Given the description of an element on the screen output the (x, y) to click on. 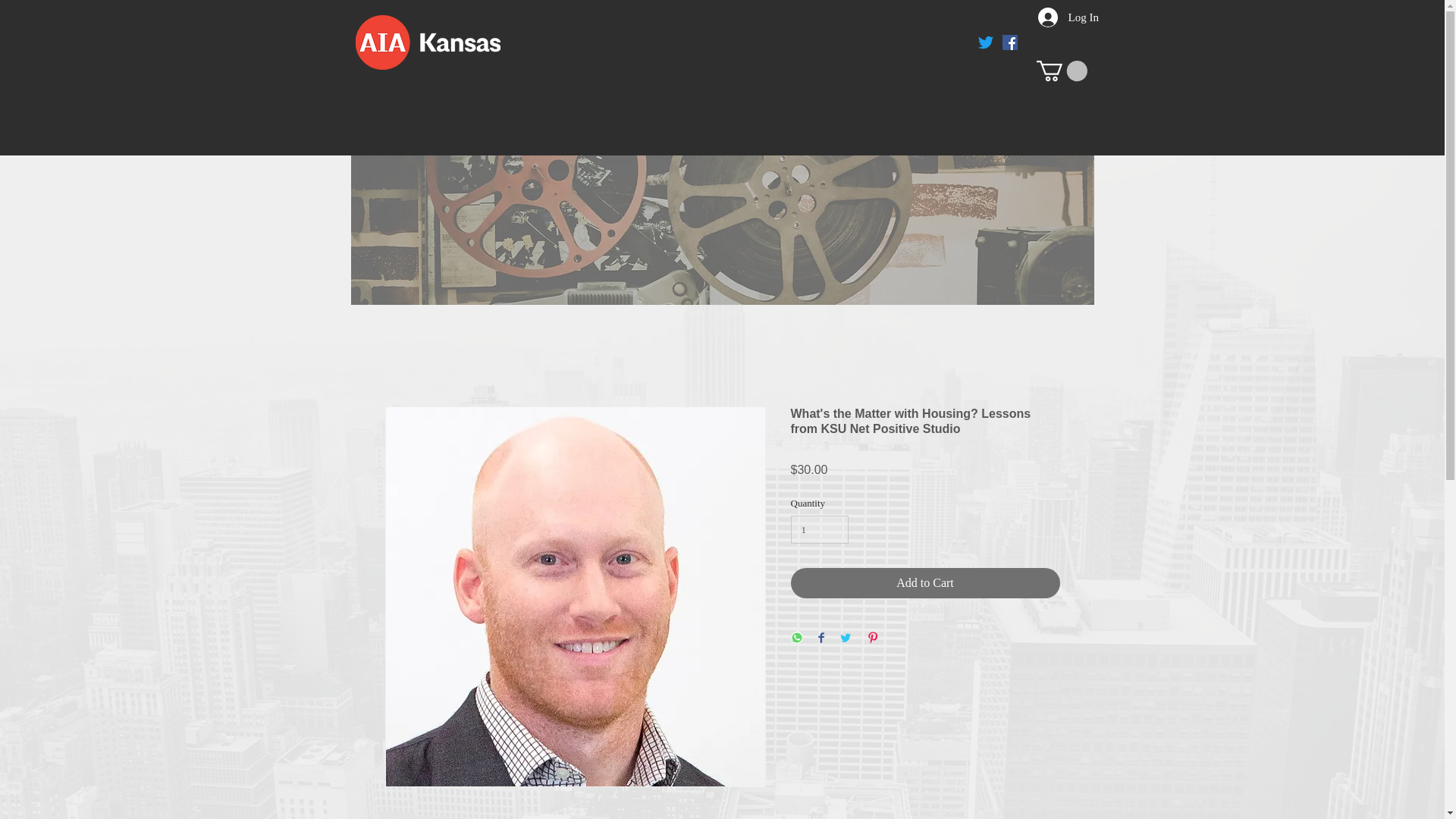
Add to Cart (924, 583)
Log In (1057, 17)
1 (818, 529)
